Given the description of an element on the screen output the (x, y) to click on. 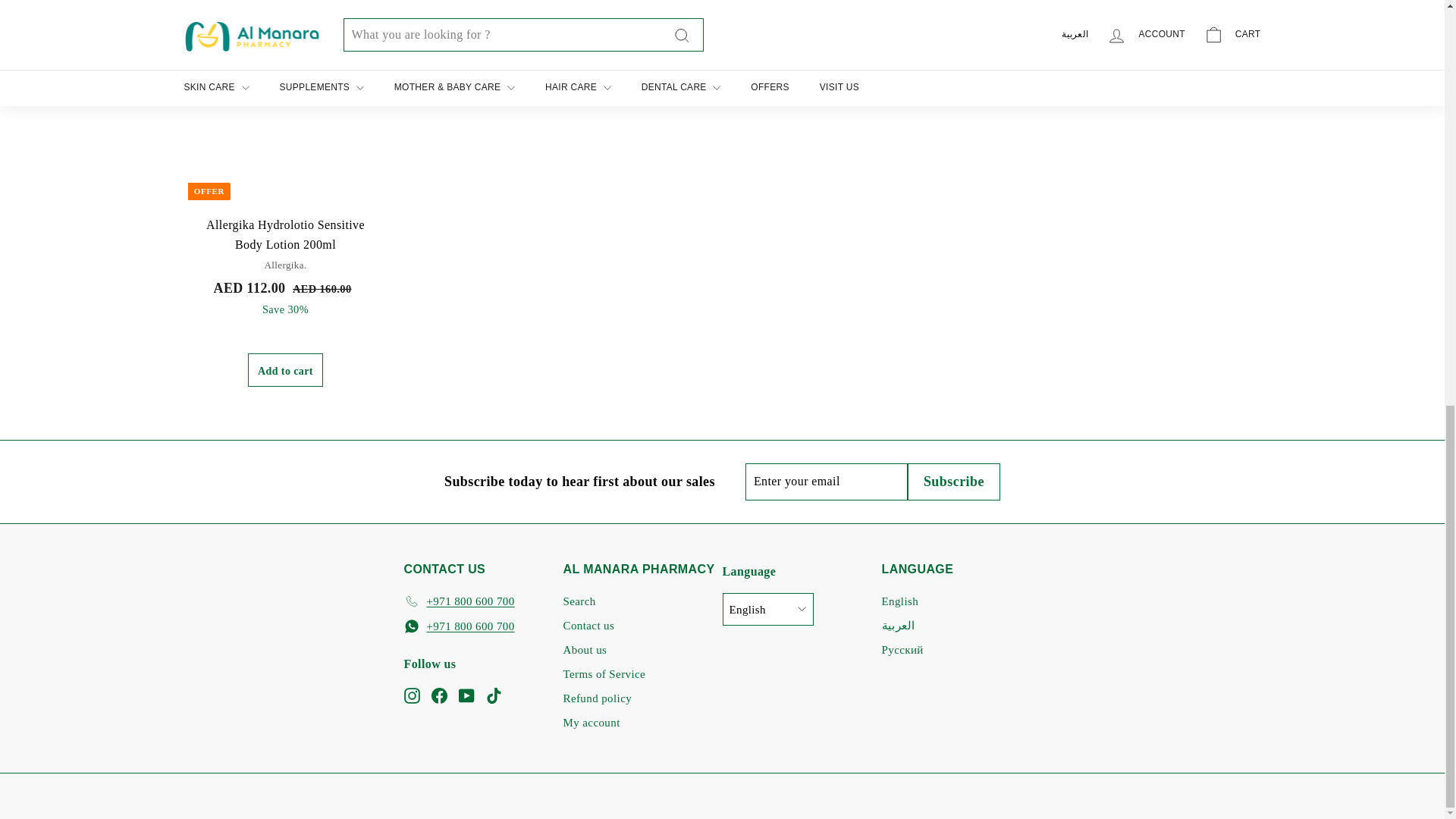
instagram (411, 694)
Add to cart (1158, 4)
Add to cart (722, 4)
Add to cart (940, 4)
Add to cart (285, 369)
Add to cart (503, 4)
